Given the description of an element on the screen output the (x, y) to click on. 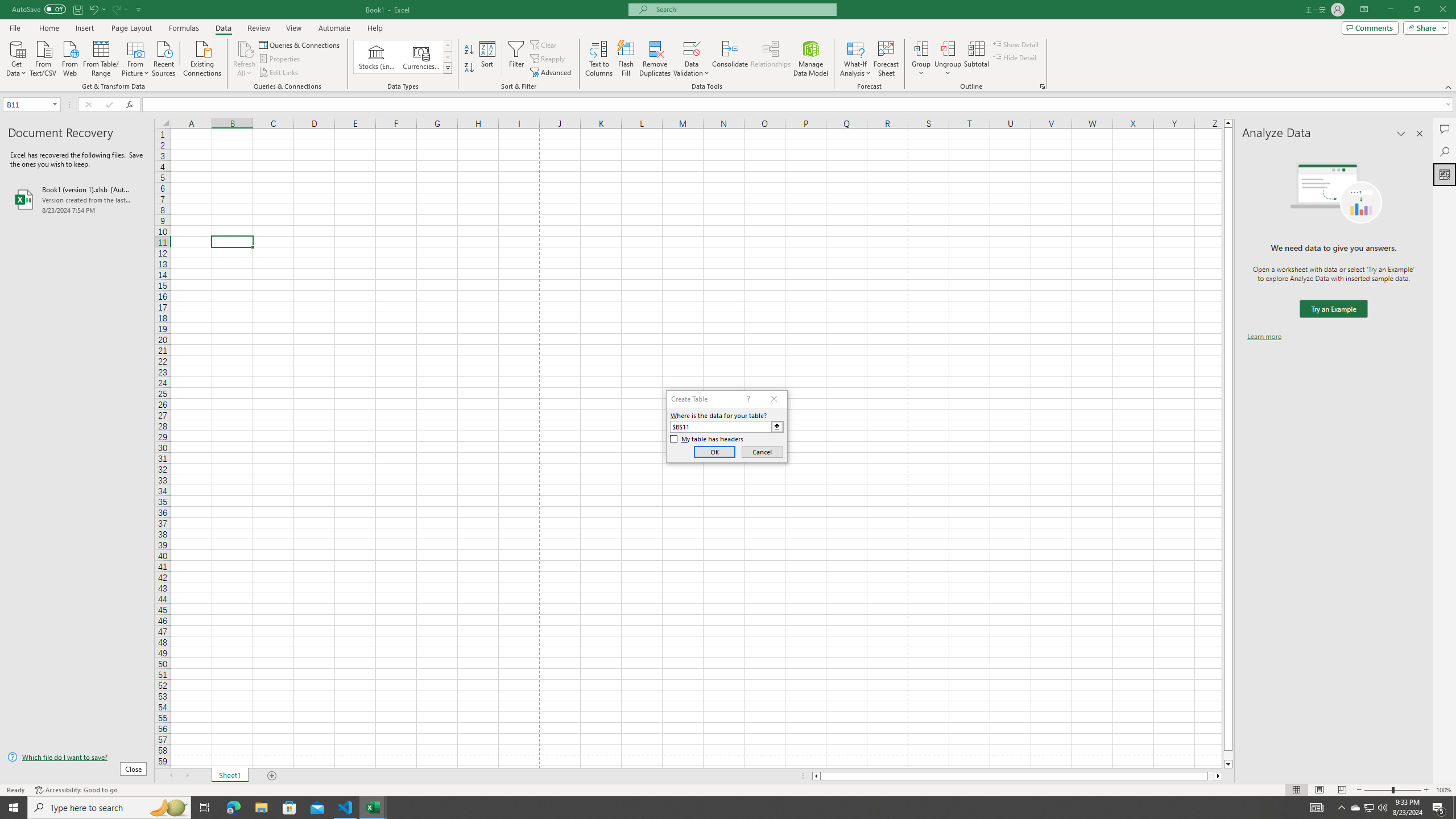
Row up (448, 45)
Currencies (English) (420, 56)
Analyze Data (1444, 173)
Text to Columns... (598, 58)
Reapply (548, 58)
Advanced... (551, 72)
